Given the description of an element on the screen output the (x, y) to click on. 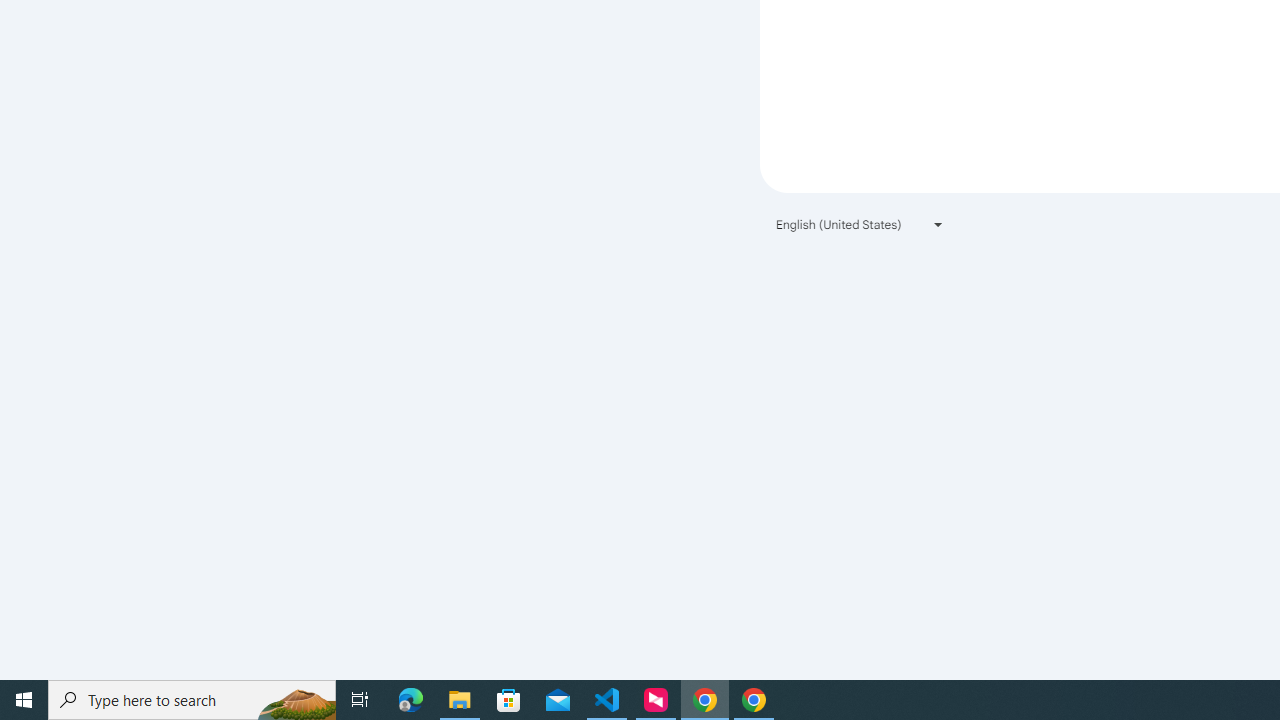
English (United States) (860, 224)
